Given the description of an element on the screen output the (x, y) to click on. 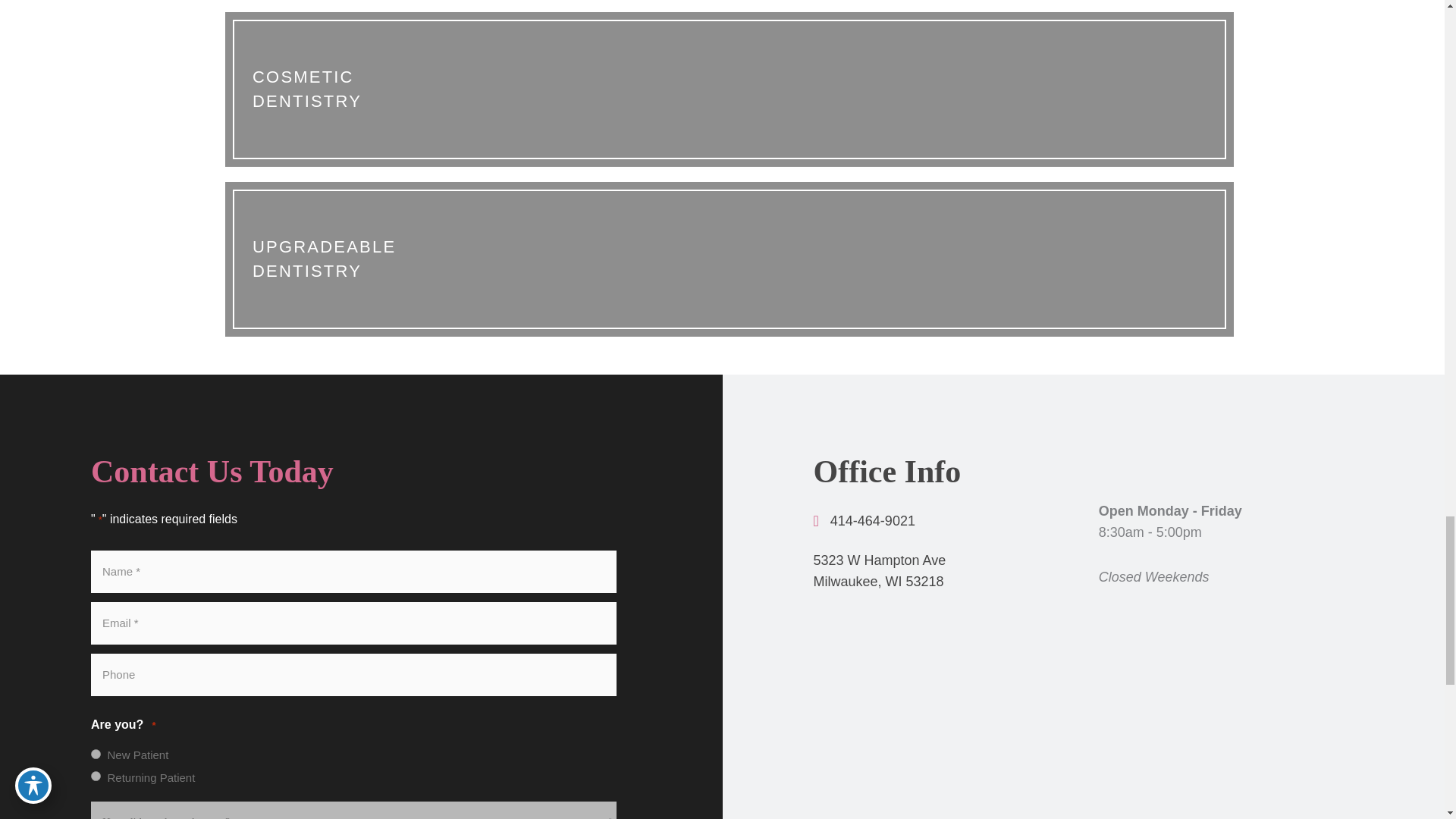
Returning Patient (95, 776)
New Patient (95, 754)
Map Location (1083, 762)
